Given the description of an element on the screen output the (x, y) to click on. 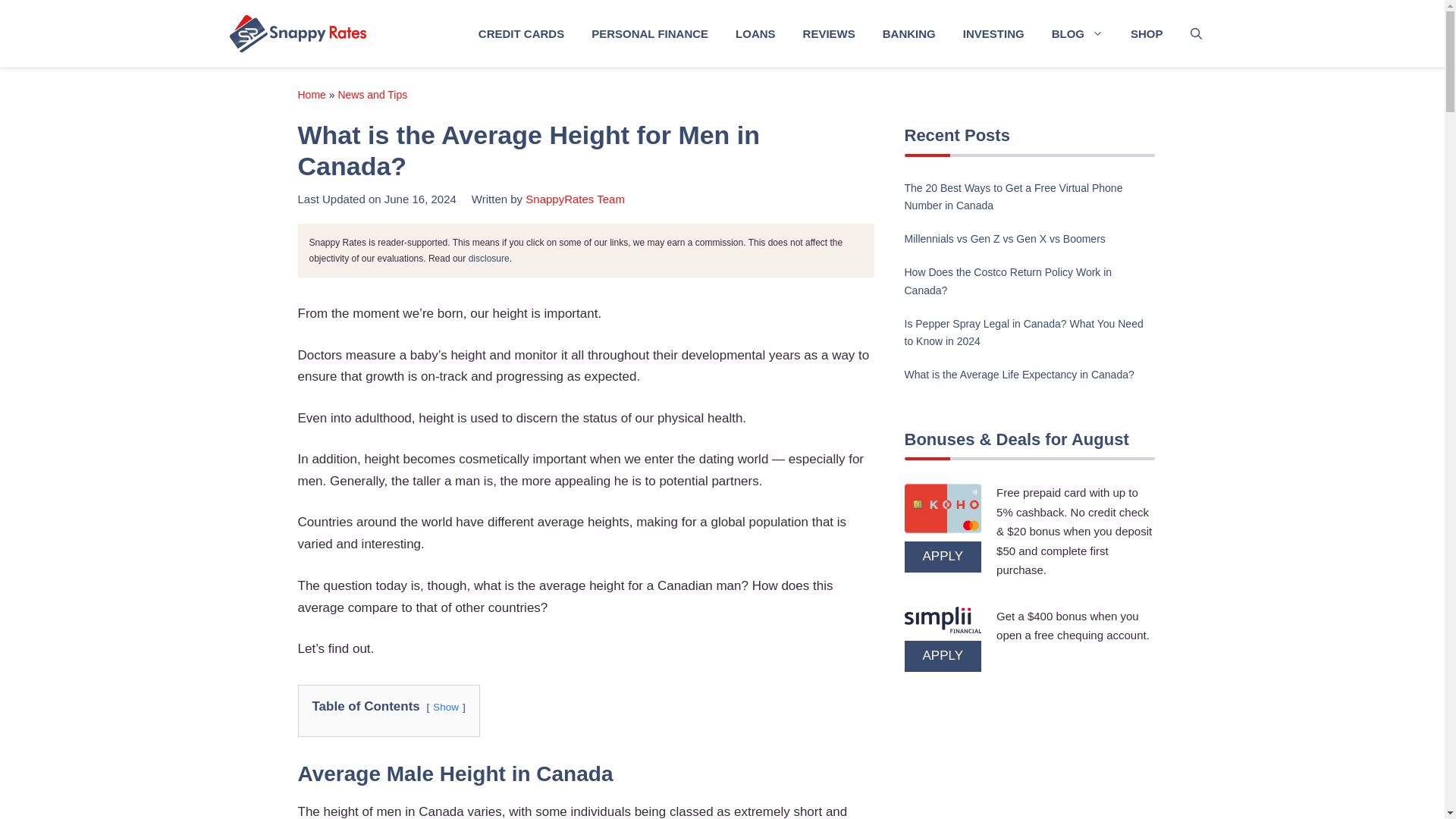
Show (445, 706)
BLOG (1077, 33)
BANKING (909, 33)
LOANS (755, 33)
News and Tips (372, 94)
disclosure (488, 258)
SHOP (1146, 33)
INVESTING (993, 33)
PERSONAL FINANCE (650, 33)
CREDIT CARDS (521, 33)
